Given the description of an element on the screen output the (x, y) to click on. 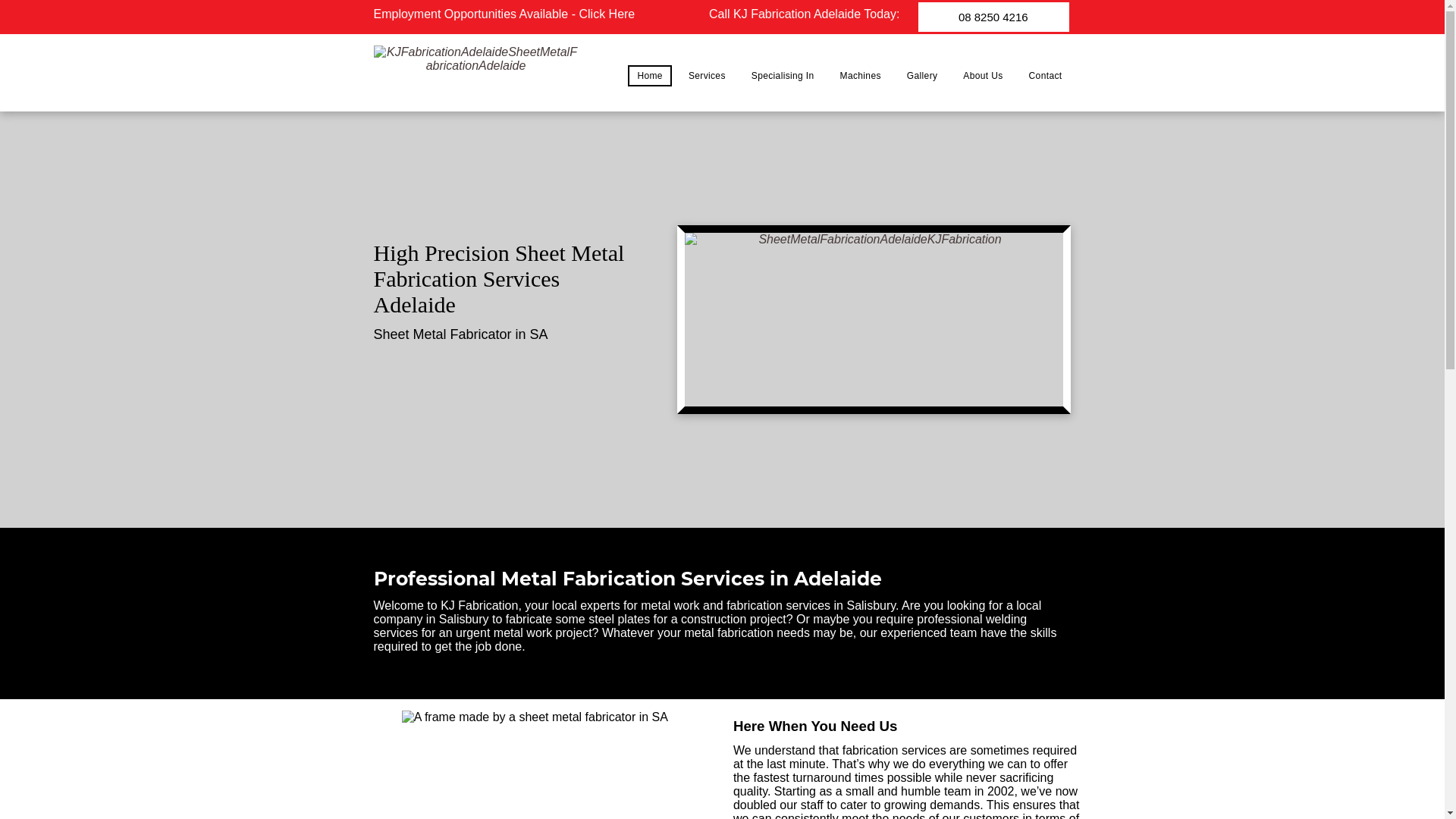
Services Element type: text (706, 75)
Gallery Element type: text (922, 75)
KJ Fabrication Adelaide Element type: hover (475, 72)
Click Here  Element type: text (607, 13)
Sheet Metal Fabrication Adelaide - KJ Fabrication Element type: hover (873, 319)
Home Element type: text (649, 75)
Specialising In Element type: text (782, 75)
08 8250 4216 Element type: text (993, 17)
Machines Element type: text (860, 75)
About Us Element type: text (982, 75)
Contact Element type: text (1045, 75)
